Given the description of an element on the screen output the (x, y) to click on. 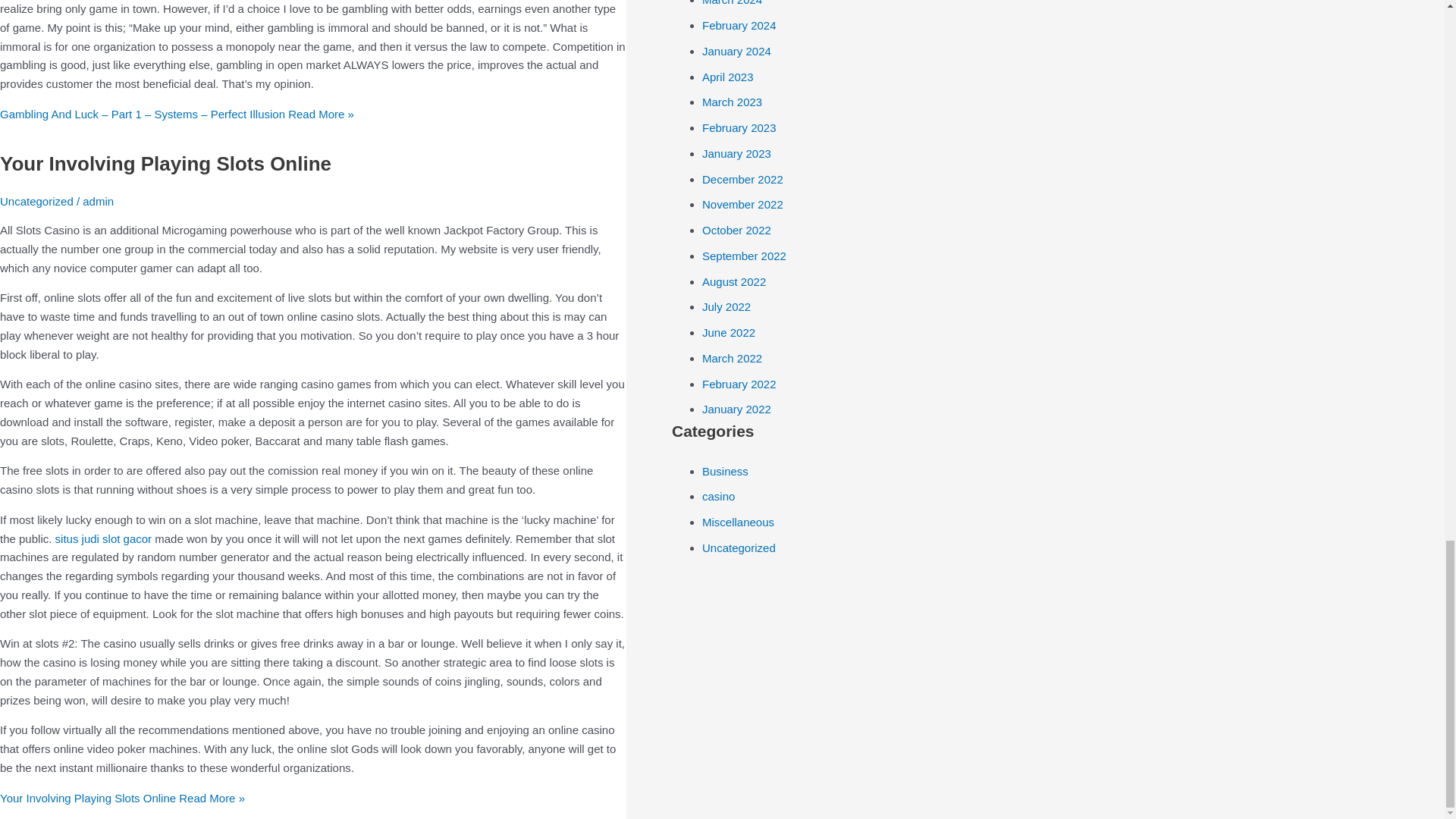
admin (97, 201)
Uncategorized (37, 201)
Your Involving Playing Slots Online (165, 163)
View all posts by admin (97, 201)
situs judi slot gacor (103, 538)
